Given the description of an element on the screen output the (x, y) to click on. 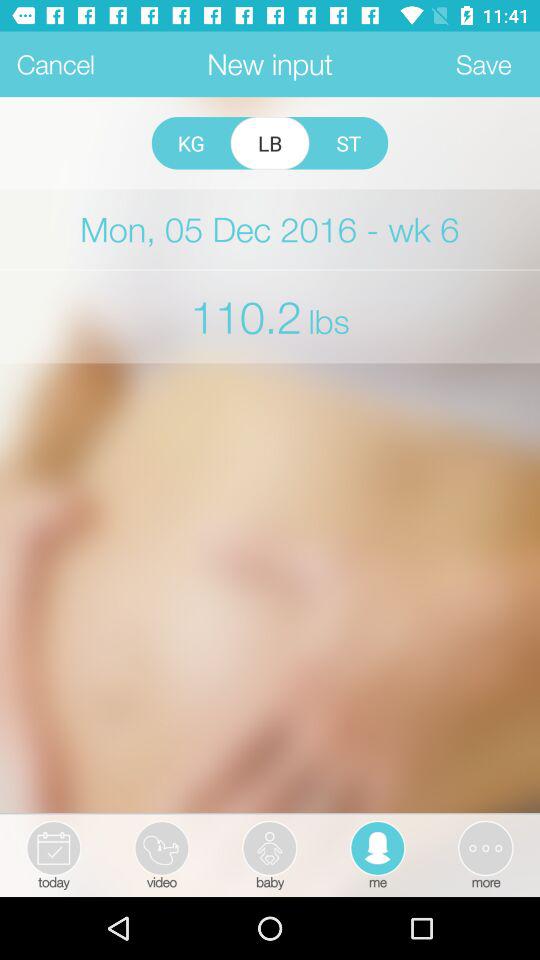
swipe until the kg icon (190, 143)
